Given the description of an element on the screen output the (x, y) to click on. 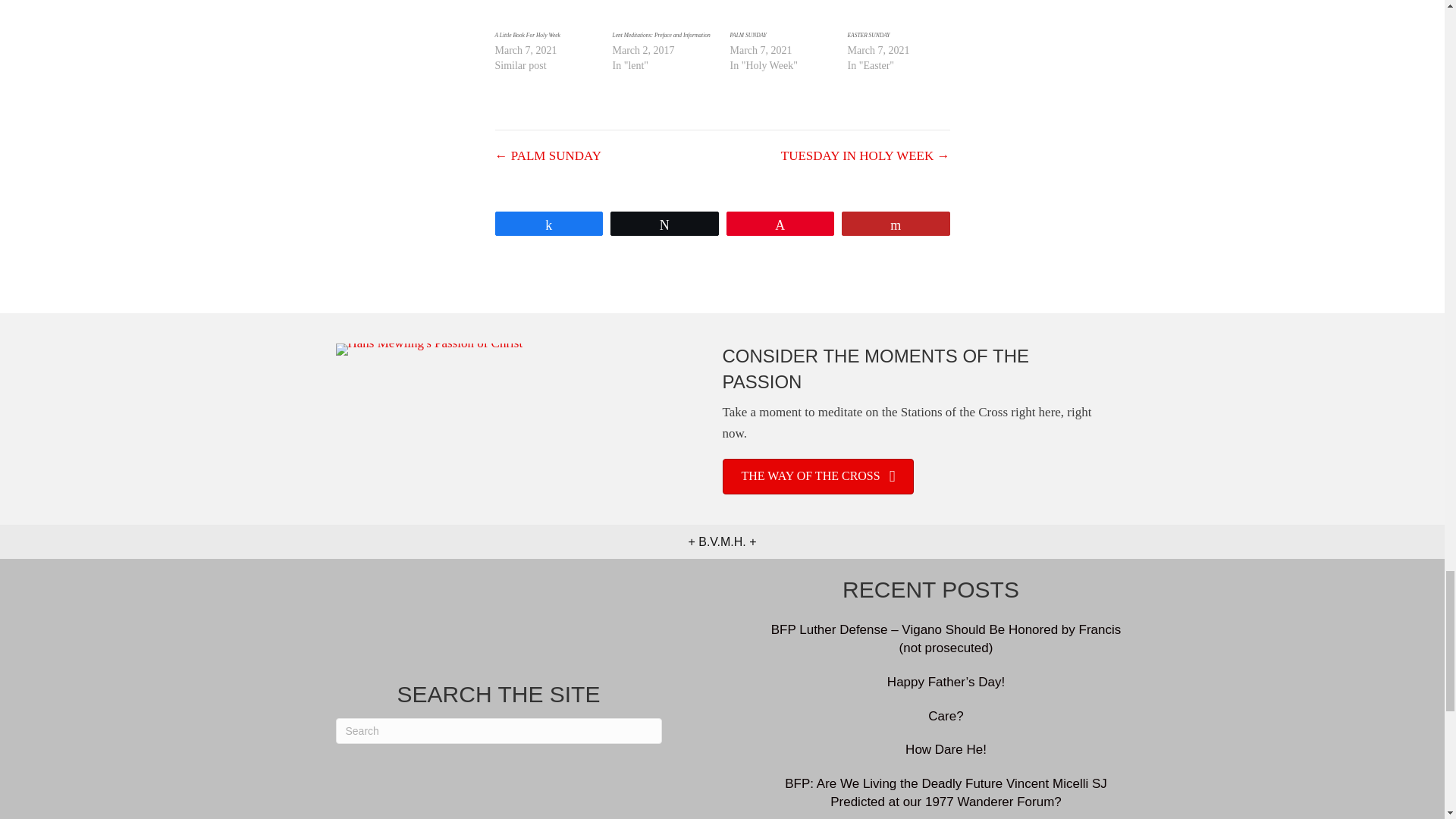
How Dare He! (946, 749)
Lent Meditations: Preface and Information (661, 34)
Lent Meditations: Preface and Information (661, 34)
EASTER SUNDAY (868, 34)
EASTER SUNDAY (898, 13)
A Little Book For Holy Week (527, 34)
Care? (945, 716)
PALM SUNDAY (747, 34)
EASTER SUNDAY (868, 34)
A Little Book For Holy Week (527, 34)
PALM SUNDAY (747, 34)
PALM SUNDAY (780, 13)
Type and press Enter to search. (497, 730)
Lent Meditations: Preface and Information (663, 13)
A Little Book For Holy Week (545, 13)
